Given the description of an element on the screen output the (x, y) to click on. 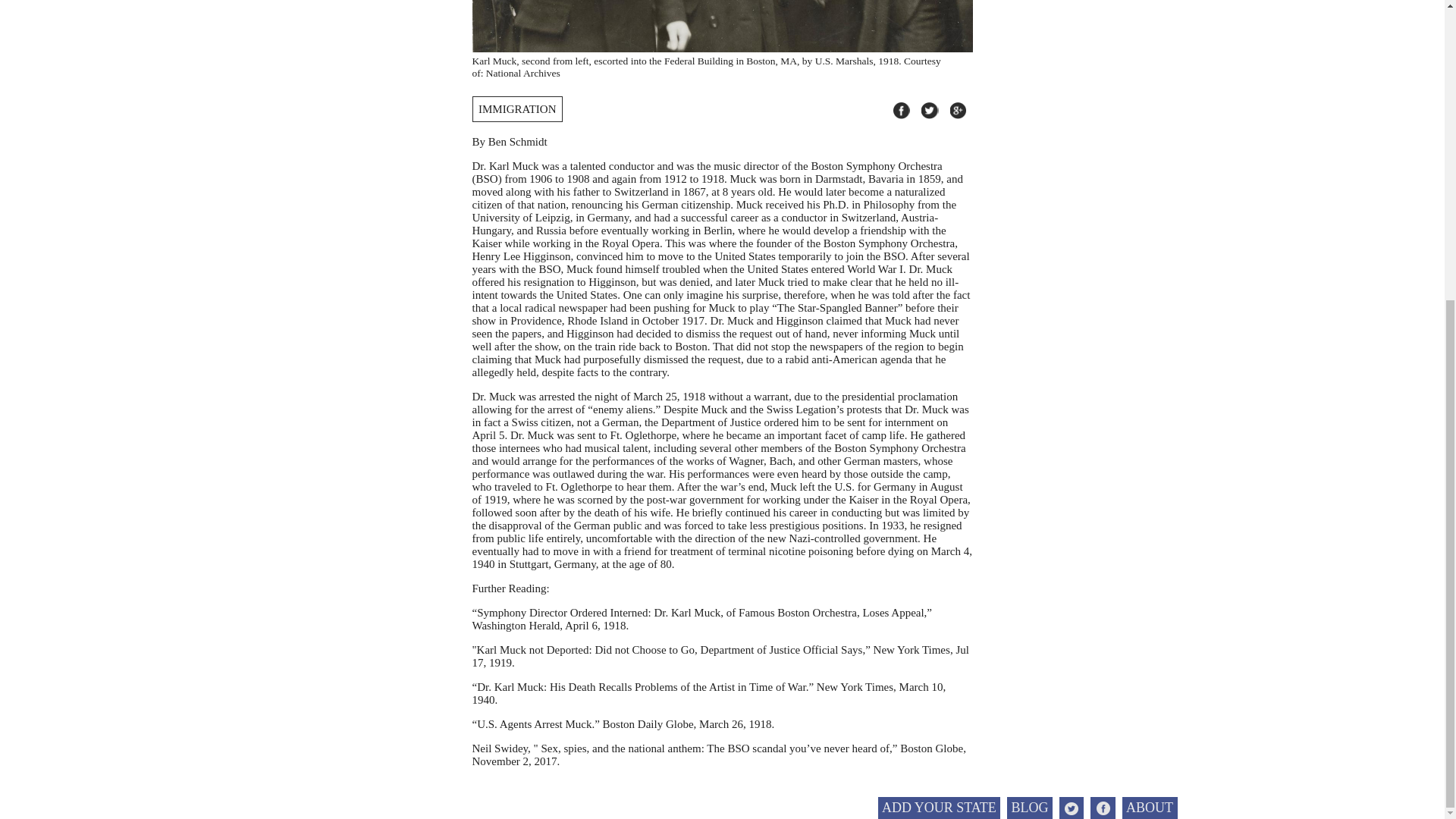
ADD YOUR STATE (939, 341)
Share on Facebook (902, 110)
Share on Google Plus (957, 110)
Share on Twitter (930, 110)
BLOG (1029, 341)
ABOUT (1149, 341)
